Given the description of an element on the screen output the (x, y) to click on. 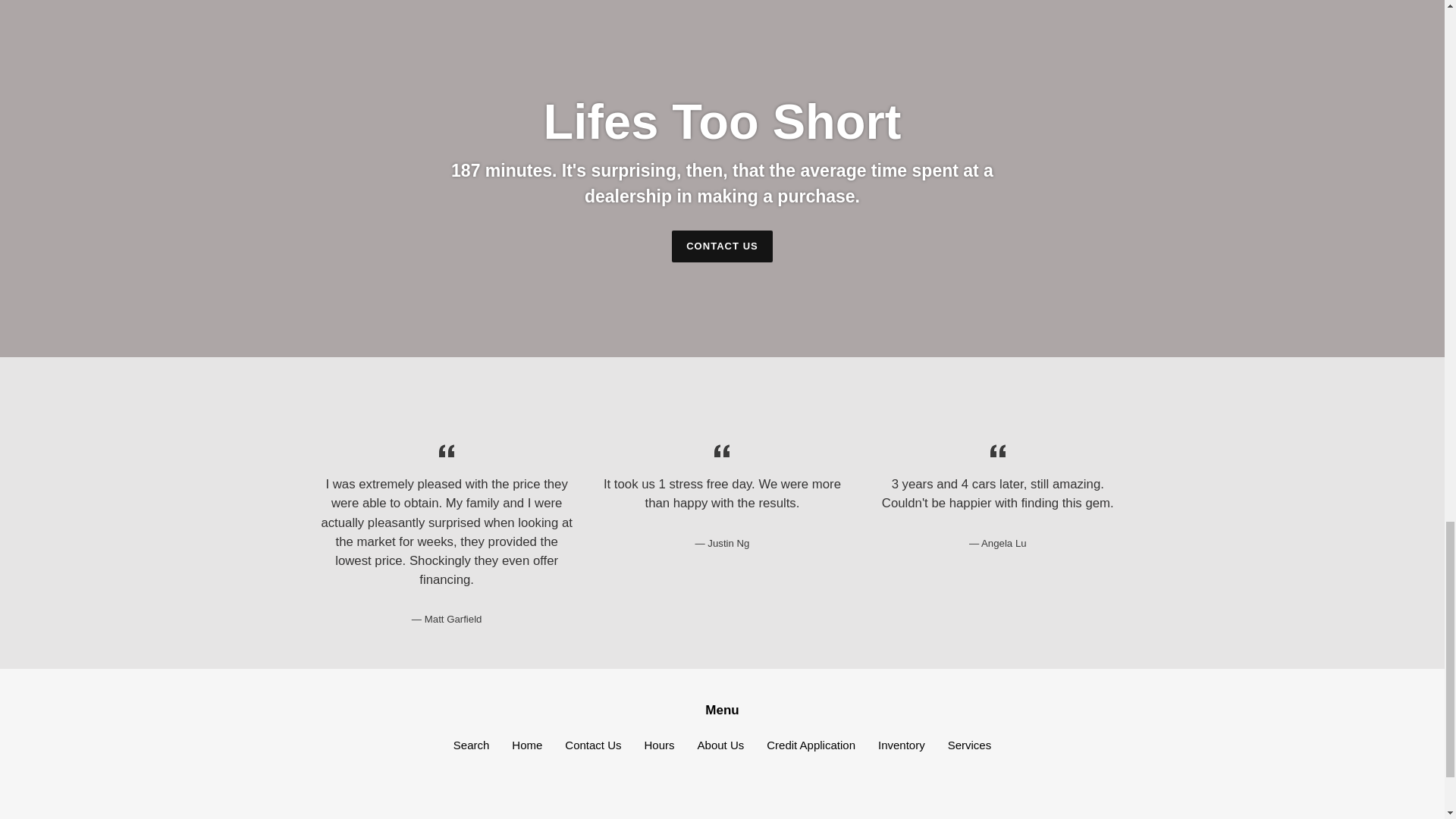
Credit Application (811, 744)
Inventory (900, 744)
Contact Us (592, 744)
About Us (720, 744)
Services (969, 744)
Home (526, 744)
CONTACT US (722, 246)
Hours (660, 744)
Search (470, 744)
